Given the description of an element on the screen output the (x, y) to click on. 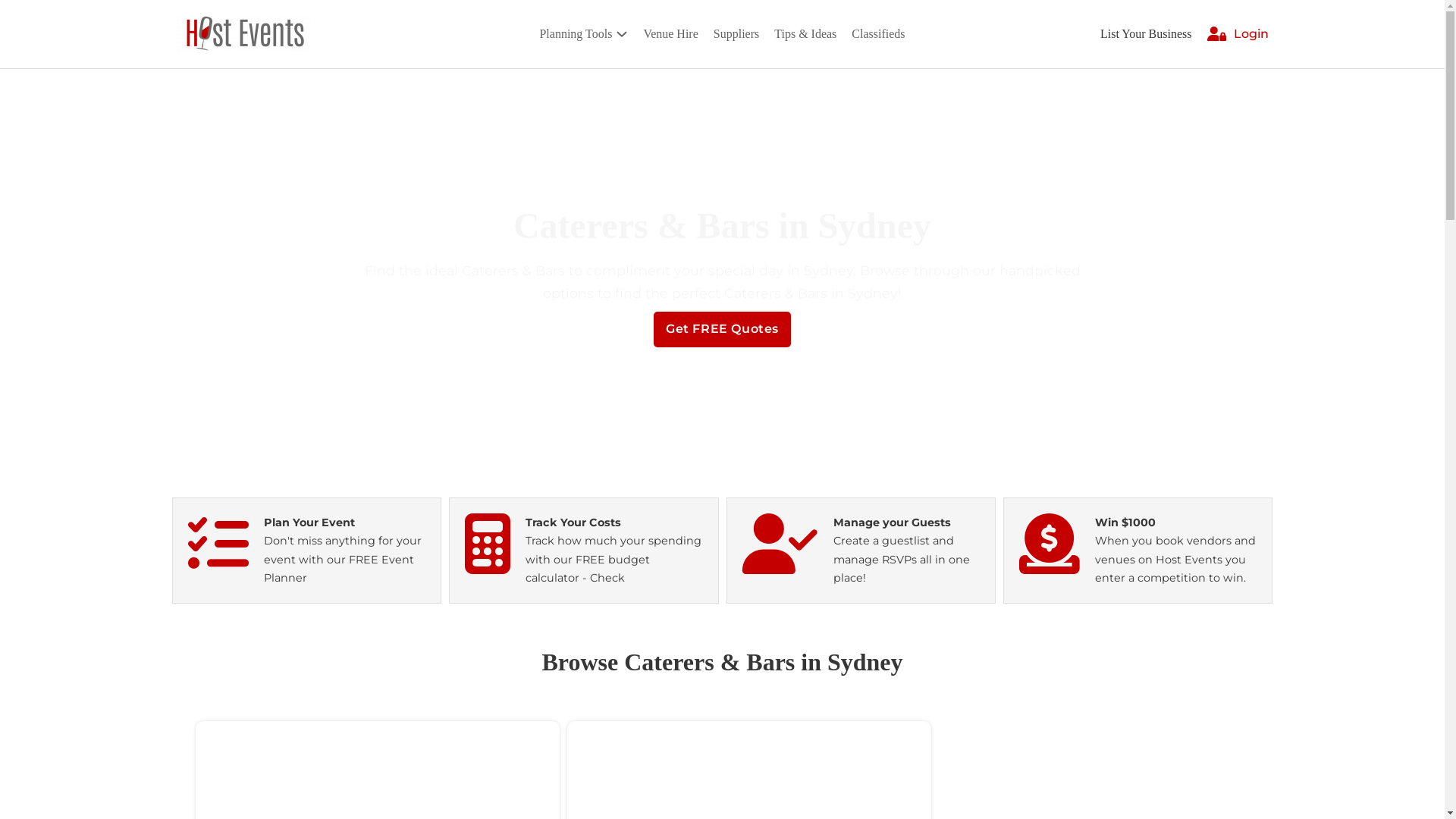
Venue Hire Element type: text (670, 33)
Next Element type: text (468, 431)
Login Element type: text (1250, 33)
List Your Business Element type: text (1145, 33)
Planning Tools Element type: text (575, 33)
Tips & Ideas Element type: text (805, 33)
Suppliers Element type: text (735, 33)
Classifieds Element type: text (877, 33)
